Given the description of an element on the screen output the (x, y) to click on. 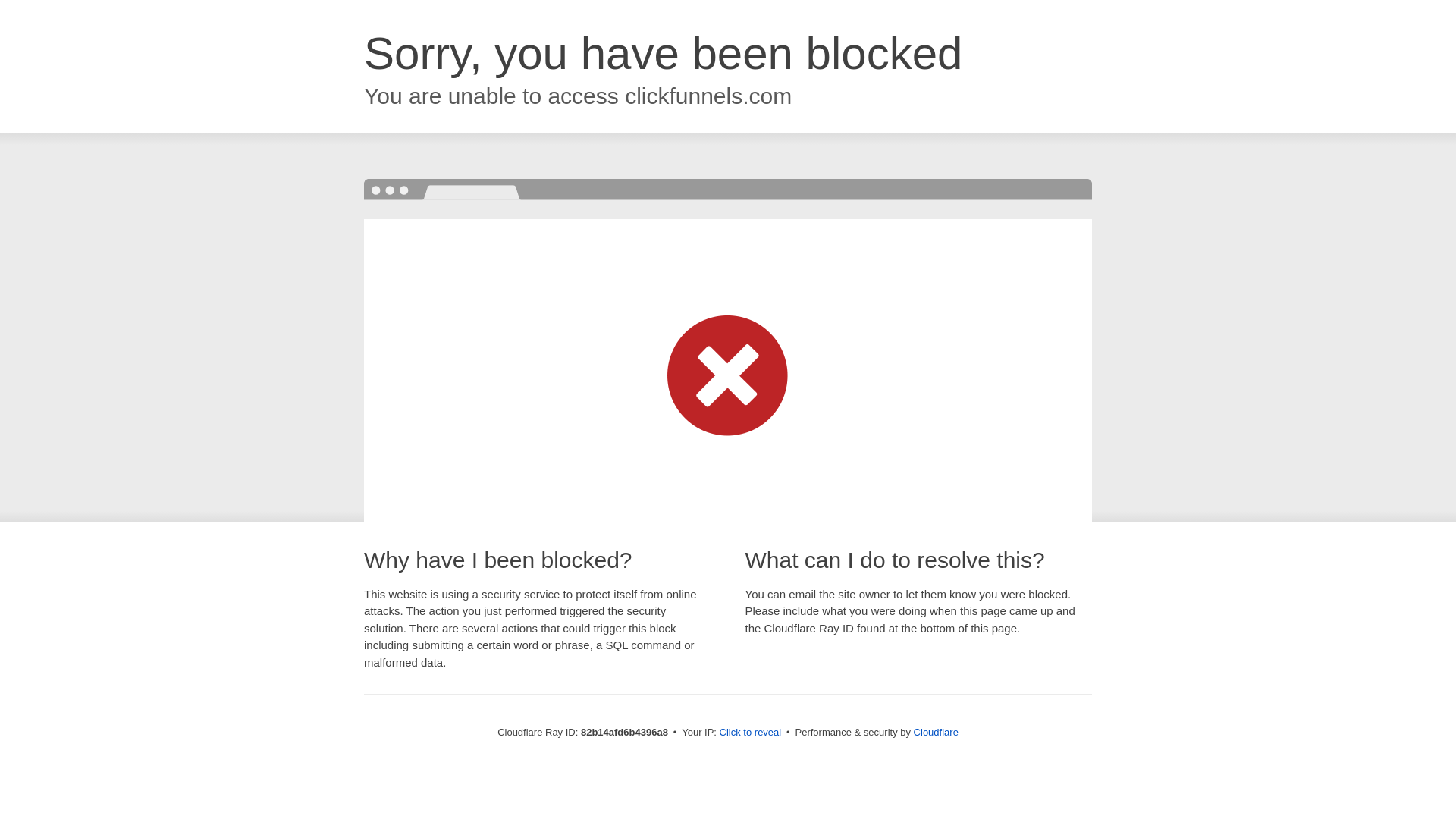
Click to reveal Element type: text (750, 732)
Cloudflare Element type: text (935, 731)
